Given the description of an element on the screen output the (x, y) to click on. 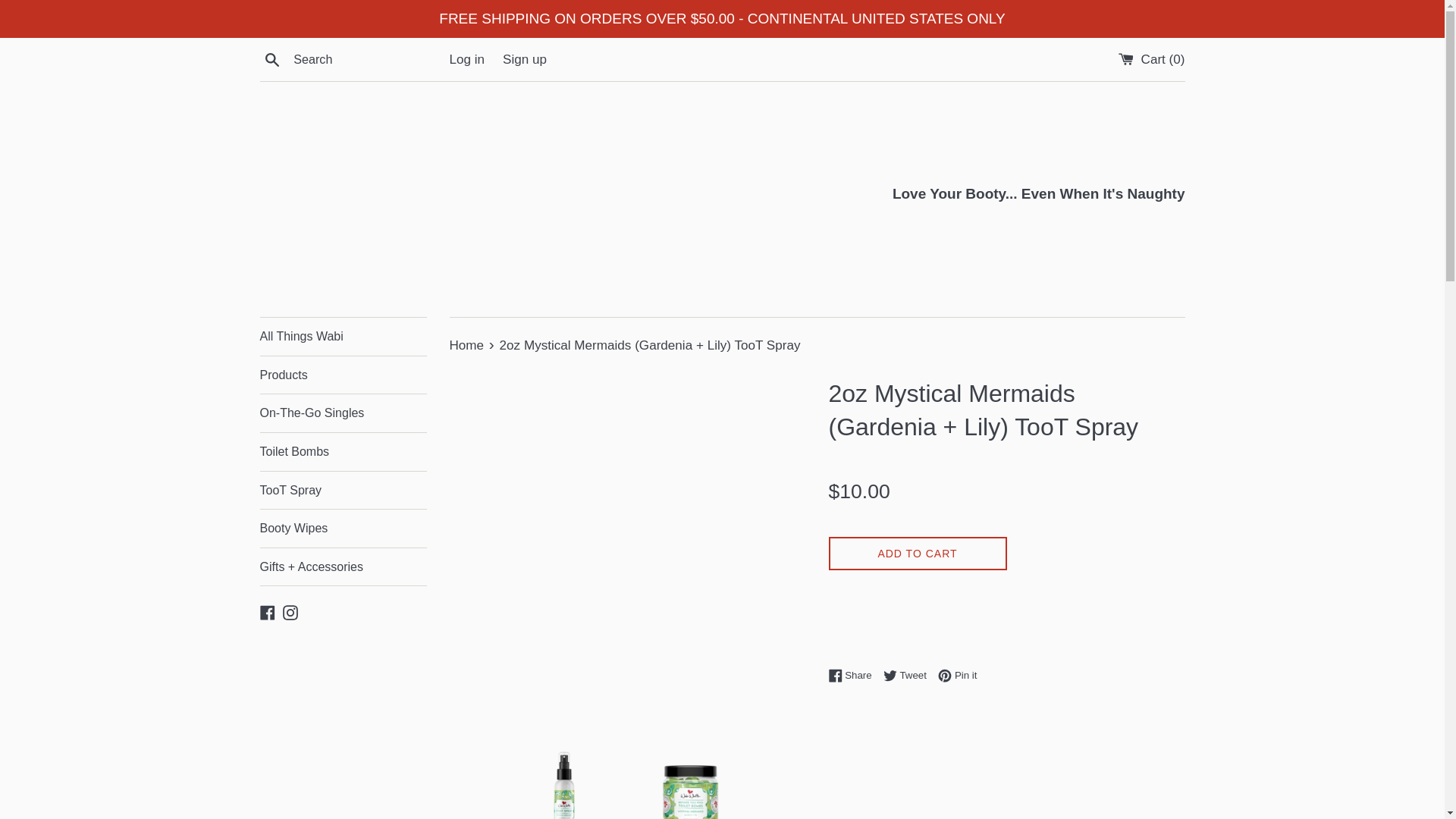
Facebook (267, 611)
Back to the frontpage (467, 345)
All Things Wabi (342, 336)
Booty Wipes (342, 528)
Pin on Pinterest (956, 675)
ADD TO CART (956, 675)
Toilet Bombs (917, 553)
Wabi Whiffs on Facebook (342, 451)
Search (267, 611)
